Given the description of an element on the screen output the (x, y) to click on. 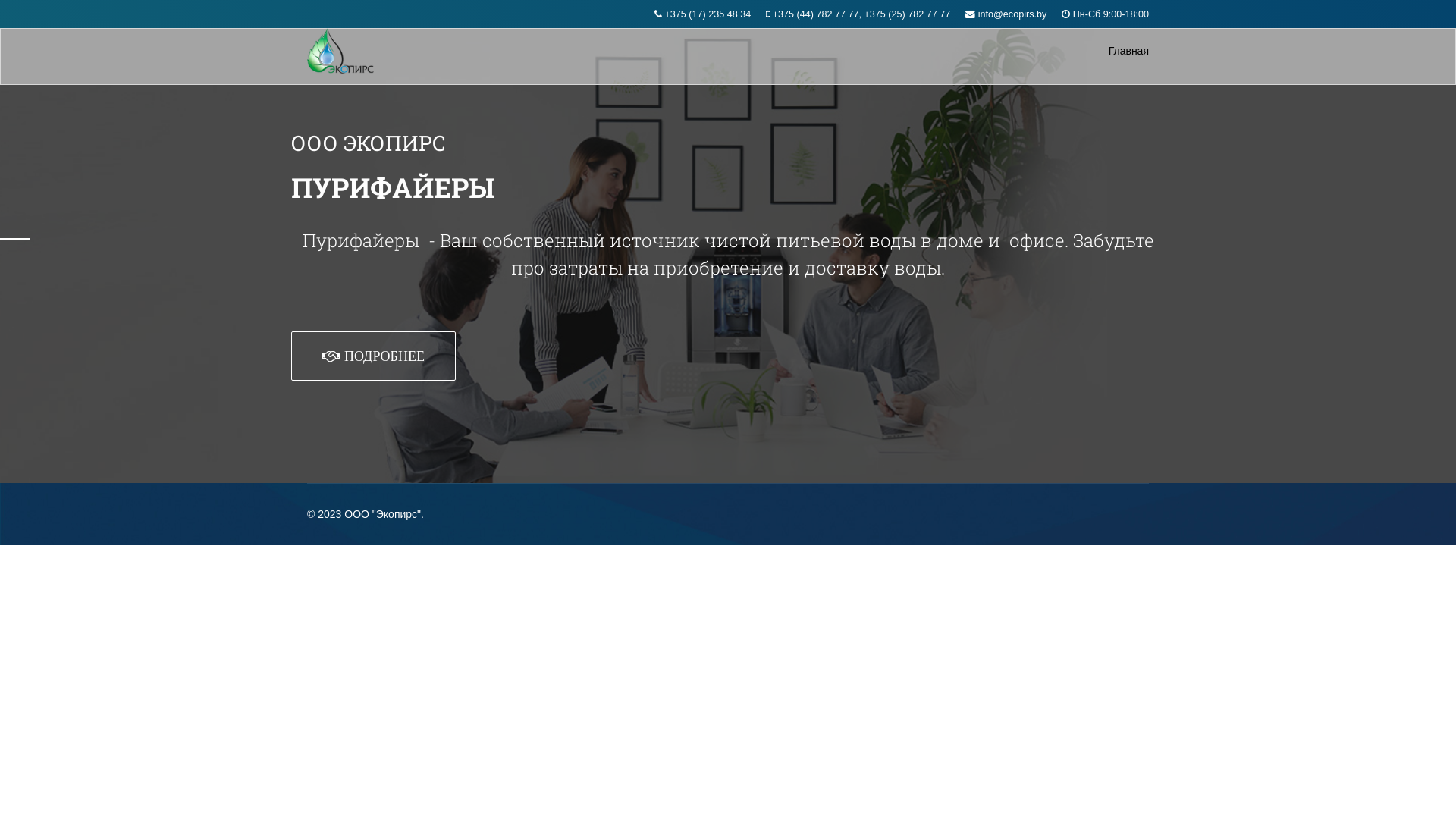
+375 (44) 782 77 77, +375 (25) 782 77 77 Element type: text (861, 14)
info@ecopirs.by Element type: text (1012, 14)
+375 (17) 235 48 34 Element type: text (707, 14)
